Given the description of an element on the screen output the (x, y) to click on. 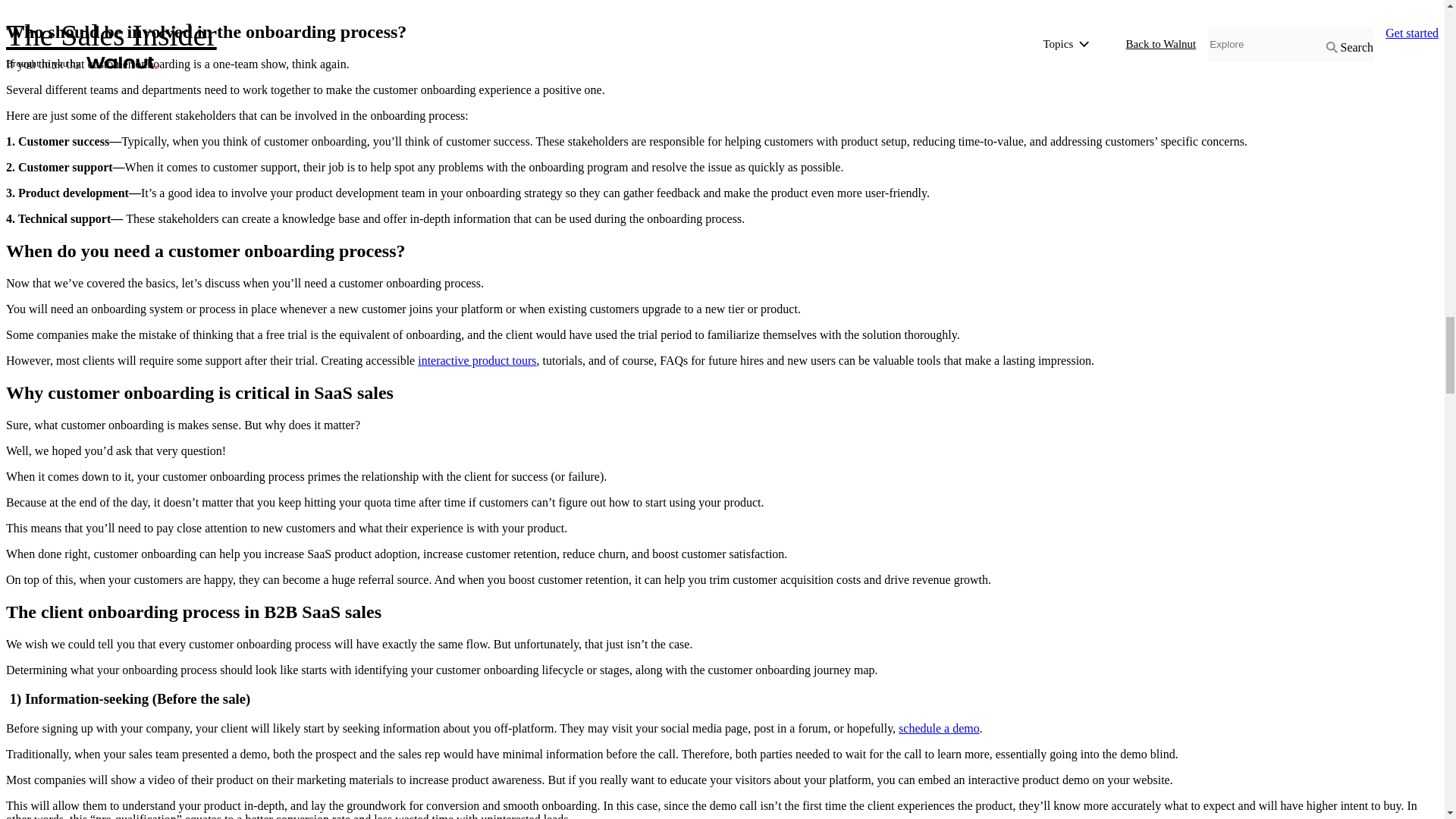
interactive product tours (476, 359)
schedule a demo (938, 727)
